Given the description of an element on the screen output the (x, y) to click on. 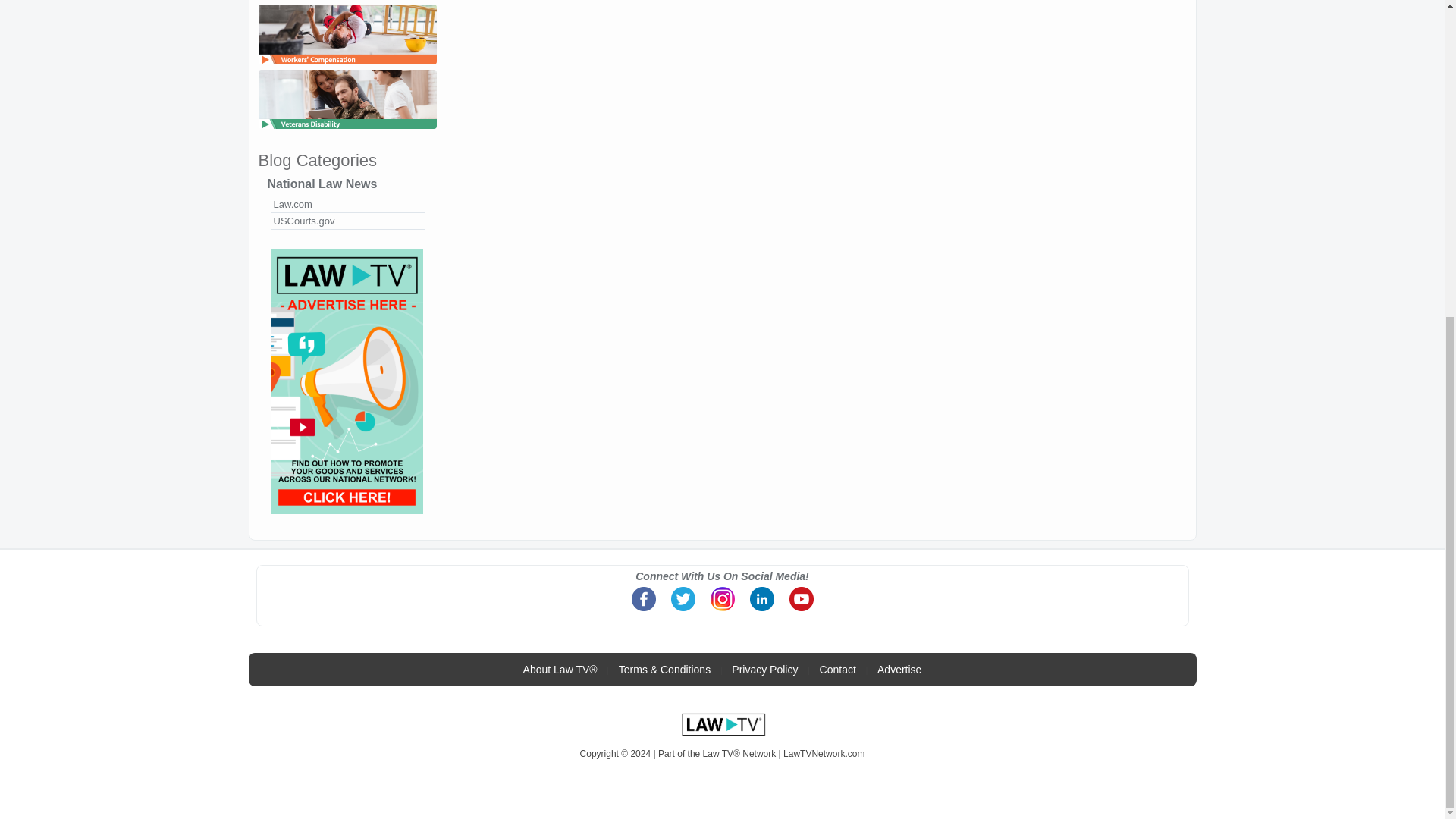
Law.com (346, 204)
National Law News (346, 183)
Social Security Disability (346, 2)
USCourts.gov (346, 221)
Veterans Disability (346, 130)
